Given the description of an element on the screen output the (x, y) to click on. 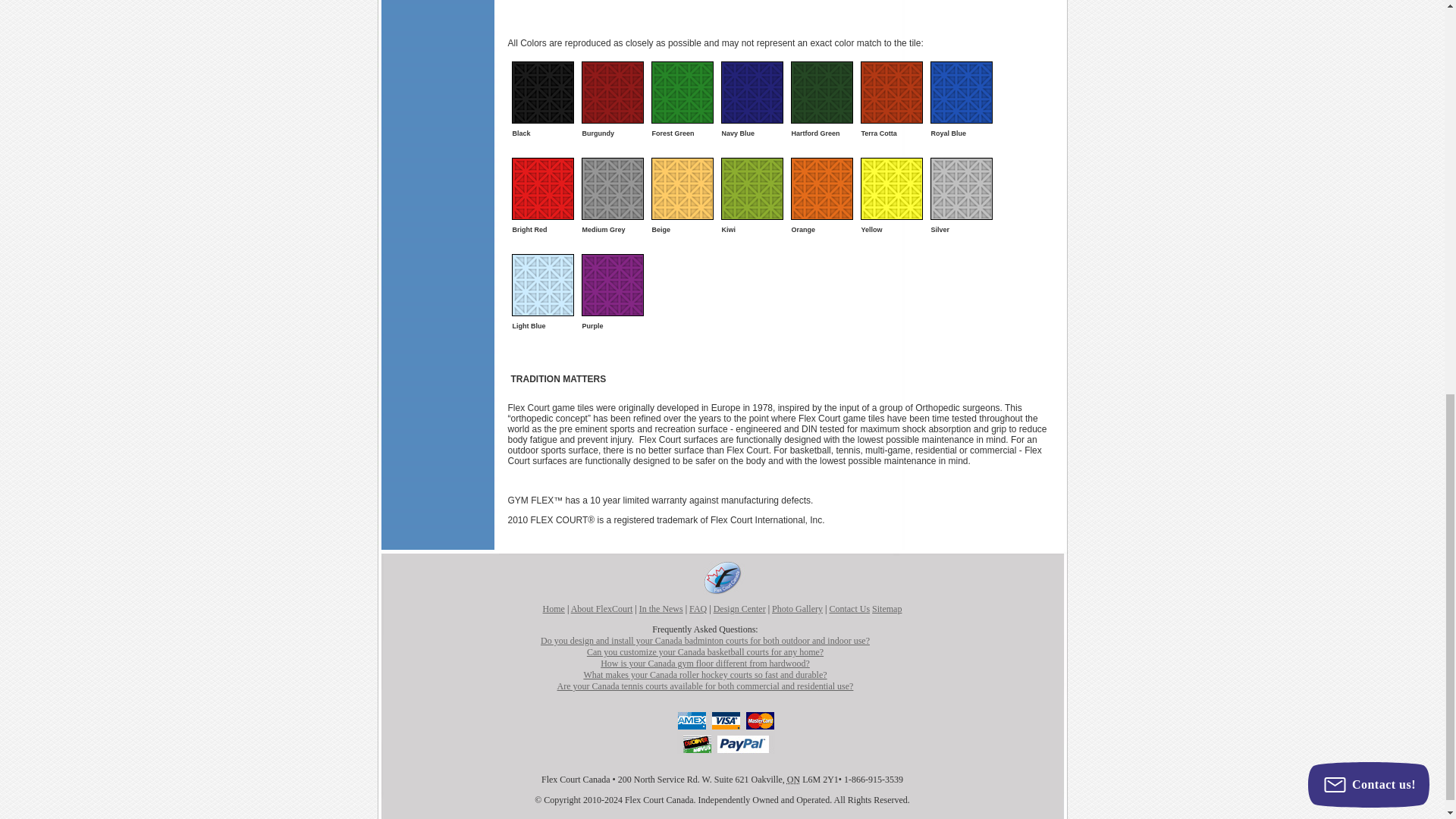
Ontario (793, 778)
